Given the description of an element on the screen output the (x, y) to click on. 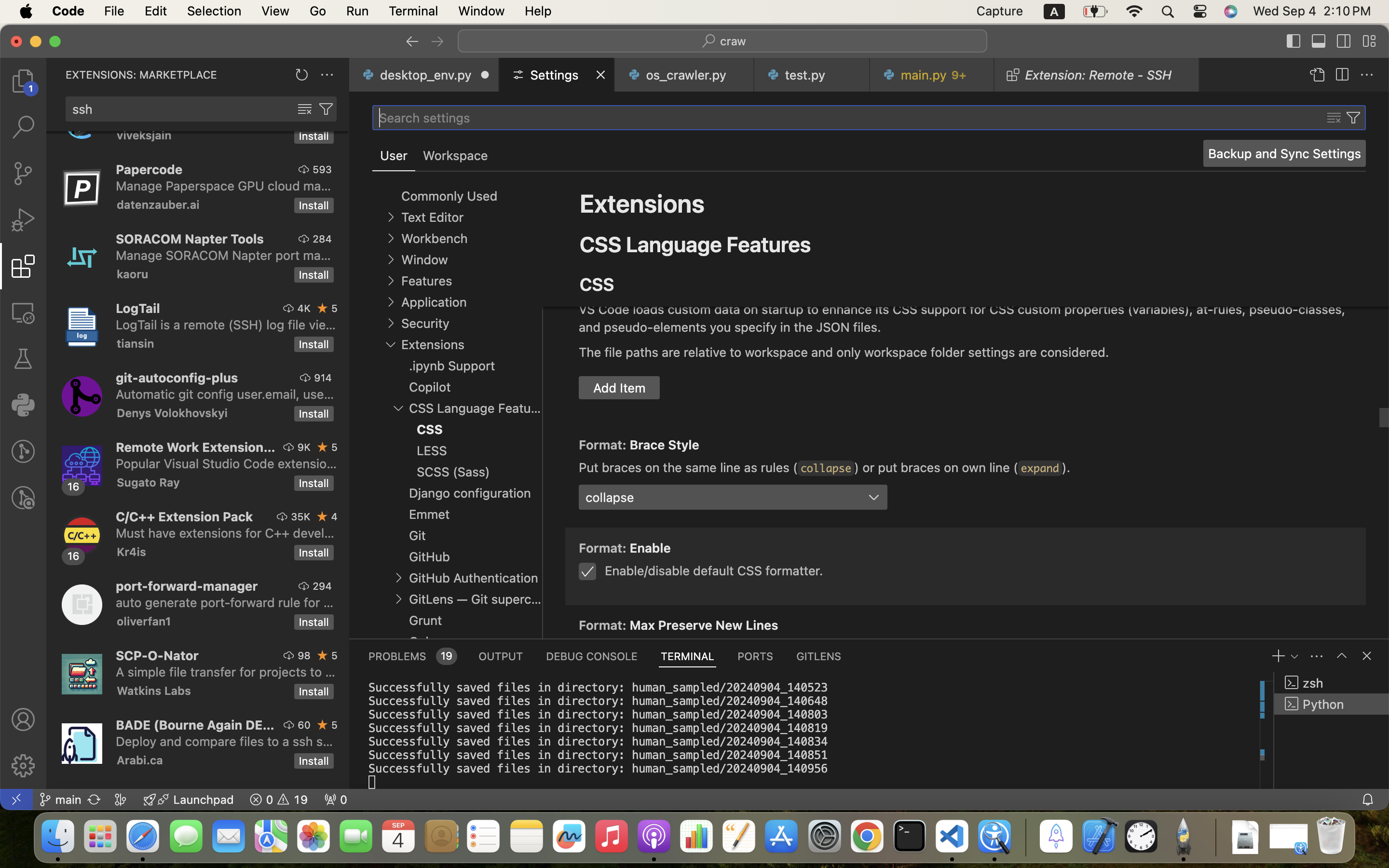
0 desktop_env.py   Element type: AXRadioButton (424, 74)
Automatic git config user.email, user.name, SSH key setting for vscode Element type: AXStaticText (224, 393)
Git Element type: AXStaticText (417, 535)
zsh  Element type: AXGroup (1331, 682)
1 TERMINAL Element type: AXRadioButton (687, 655)
